Given the description of an element on the screen output the (x, y) to click on. 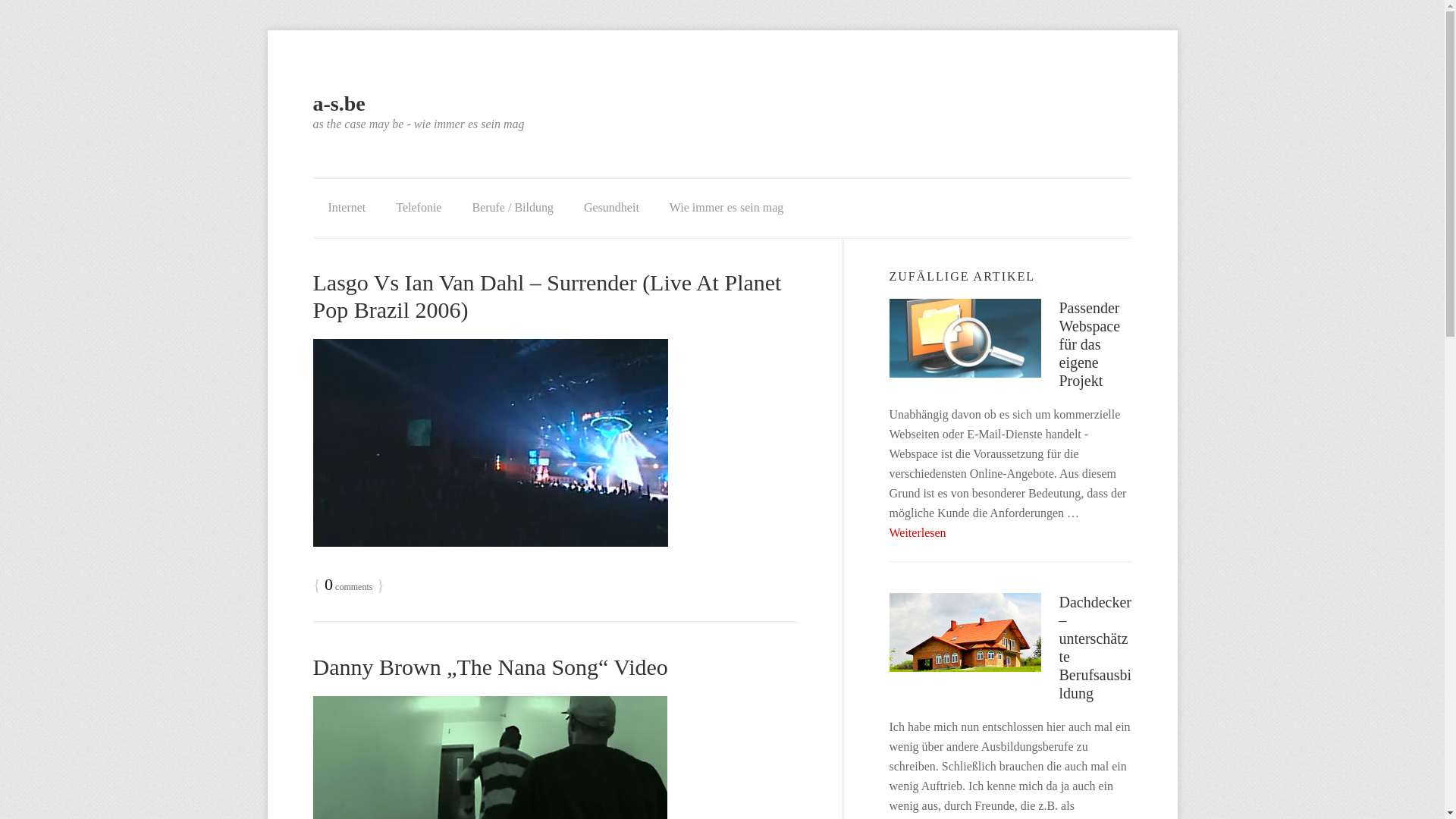
Gesundheit Element type: text (611, 207)
0 comments Element type: text (348, 586)
Internet Element type: text (346, 207)
Telefonie Element type: text (418, 207)
Berufe / Bildung Element type: text (512, 207)
a-s.be Element type: text (338, 103)
Weiterlesen Element type: text (916, 532)
Wie immer es sein mag Element type: text (726, 207)
